Given the description of an element on the screen output the (x, y) to click on. 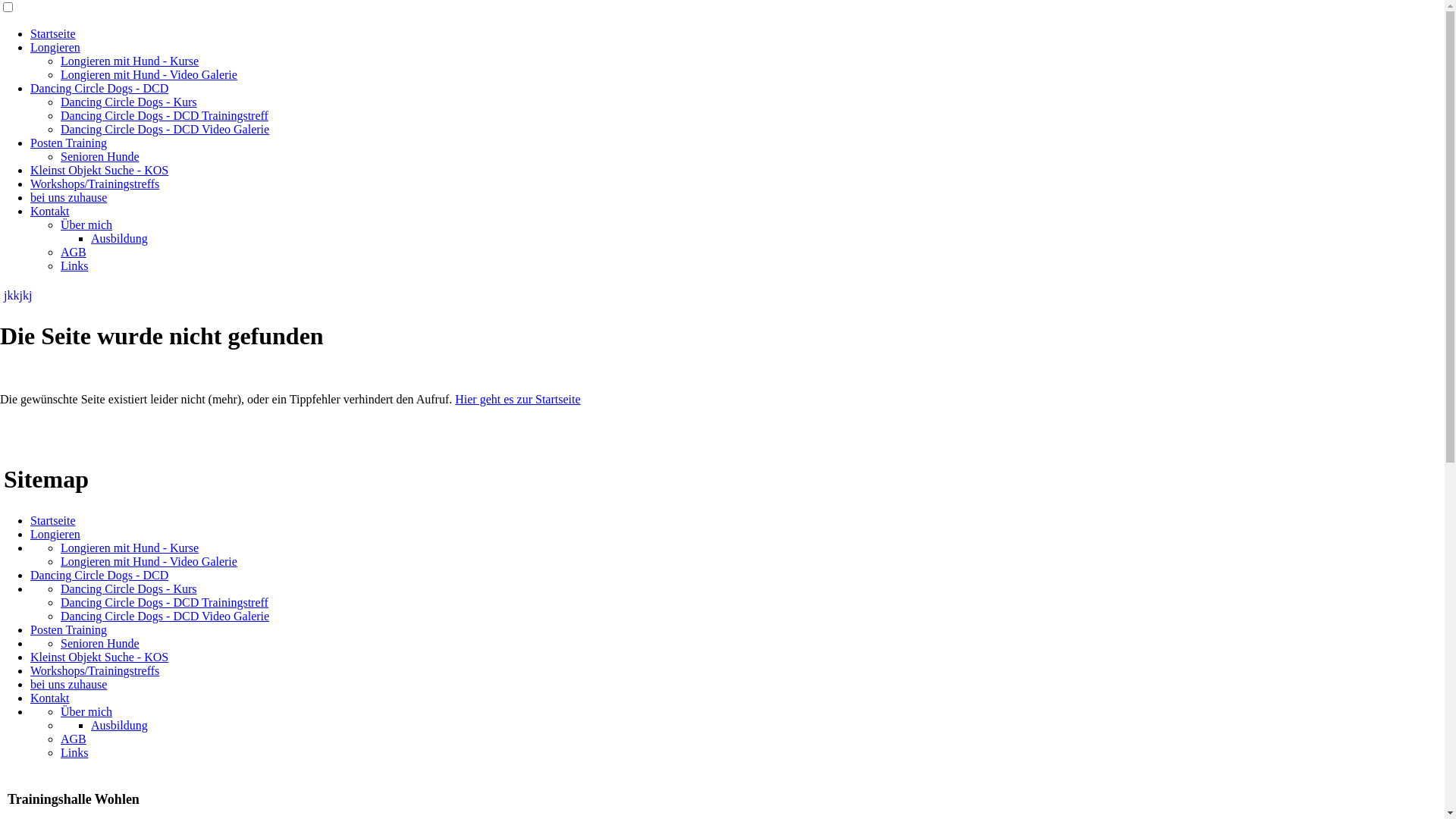
AGB Element type: text (73, 738)
Startseite Element type: text (52, 520)
Kleinst Objekt Suche - KOS Element type: text (99, 169)
Ausbildung Element type: text (119, 238)
jkkjkj Element type: text (17, 294)
Longieren Element type: text (55, 533)
Dancing Circle Dogs - DCD Trainingstreff Element type: text (164, 115)
bei uns zuhause Element type: text (68, 683)
Hier geht es zur Startseite Element type: text (517, 398)
Dancing Circle Dogs - DCD Video Galerie Element type: text (164, 128)
Kontakt Element type: text (49, 697)
Longieren mit Hund - Video Galerie Element type: text (148, 74)
Startseite Element type: text (52, 33)
Posten Training Element type: text (68, 629)
Longieren mit Hund - Kurse Element type: text (129, 547)
Links Element type: text (73, 265)
AGB Element type: text (73, 251)
Posten Training Element type: text (68, 142)
Ausbildung Element type: text (119, 724)
Workshops/Trainingstreffs Element type: text (94, 183)
Dancing Circle Dogs - Kurs Element type: text (128, 588)
Kleinst Objekt Suche - KOS Element type: text (99, 656)
Links Element type: text (73, 752)
Dancing Circle Dogs - DCD Element type: text (99, 87)
Dancing Circle Dogs - DCD Video Galerie Element type: text (164, 615)
Dancing Circle Dogs - Kurs Element type: text (128, 101)
Senioren Hunde Element type: text (99, 643)
Dancing Circle Dogs - DCD Element type: text (99, 574)
Senioren Hunde Element type: text (99, 156)
Longieren mit Hund - Kurse Element type: text (129, 60)
Longieren Element type: text (55, 46)
Dancing Circle Dogs - DCD Trainingstreff Element type: text (164, 602)
Workshops/Trainingstreffs Element type: text (94, 670)
Kontakt Element type: text (49, 210)
Longieren mit Hund - Video Galerie Element type: text (148, 561)
bei uns zuhause Element type: text (68, 197)
